Given the description of an element on the screen output the (x, y) to click on. 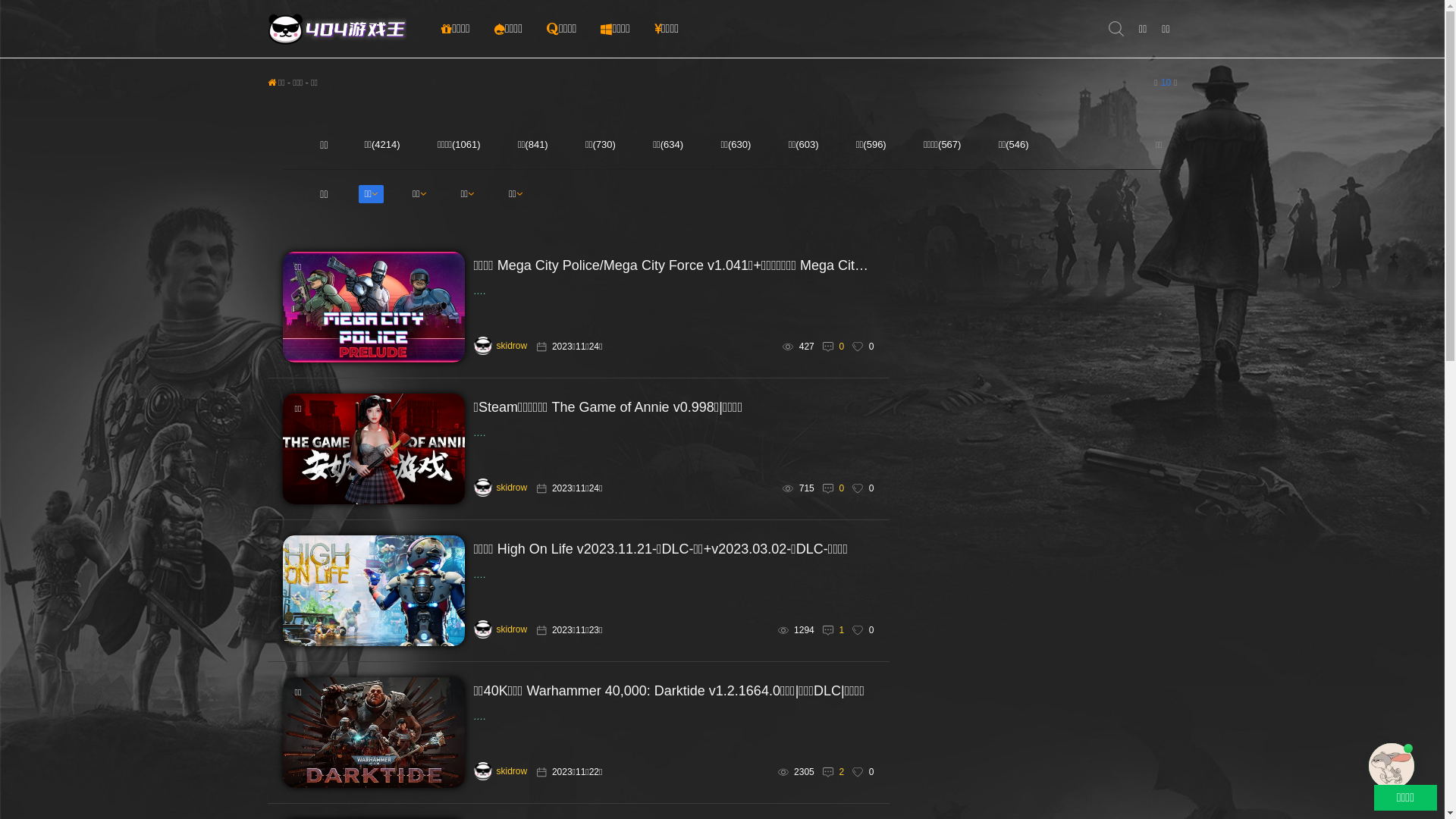
skidrow Element type: text (500, 629)
skidrow Element type: text (500, 487)
0 Element type: text (841, 346)
skidrow Element type: text (500, 770)
2 Element type: text (841, 771)
skidrow Element type: text (500, 345)
1 Element type: text (841, 629)
0 Element type: text (841, 488)
